Given the description of an element on the screen output the (x, y) to click on. 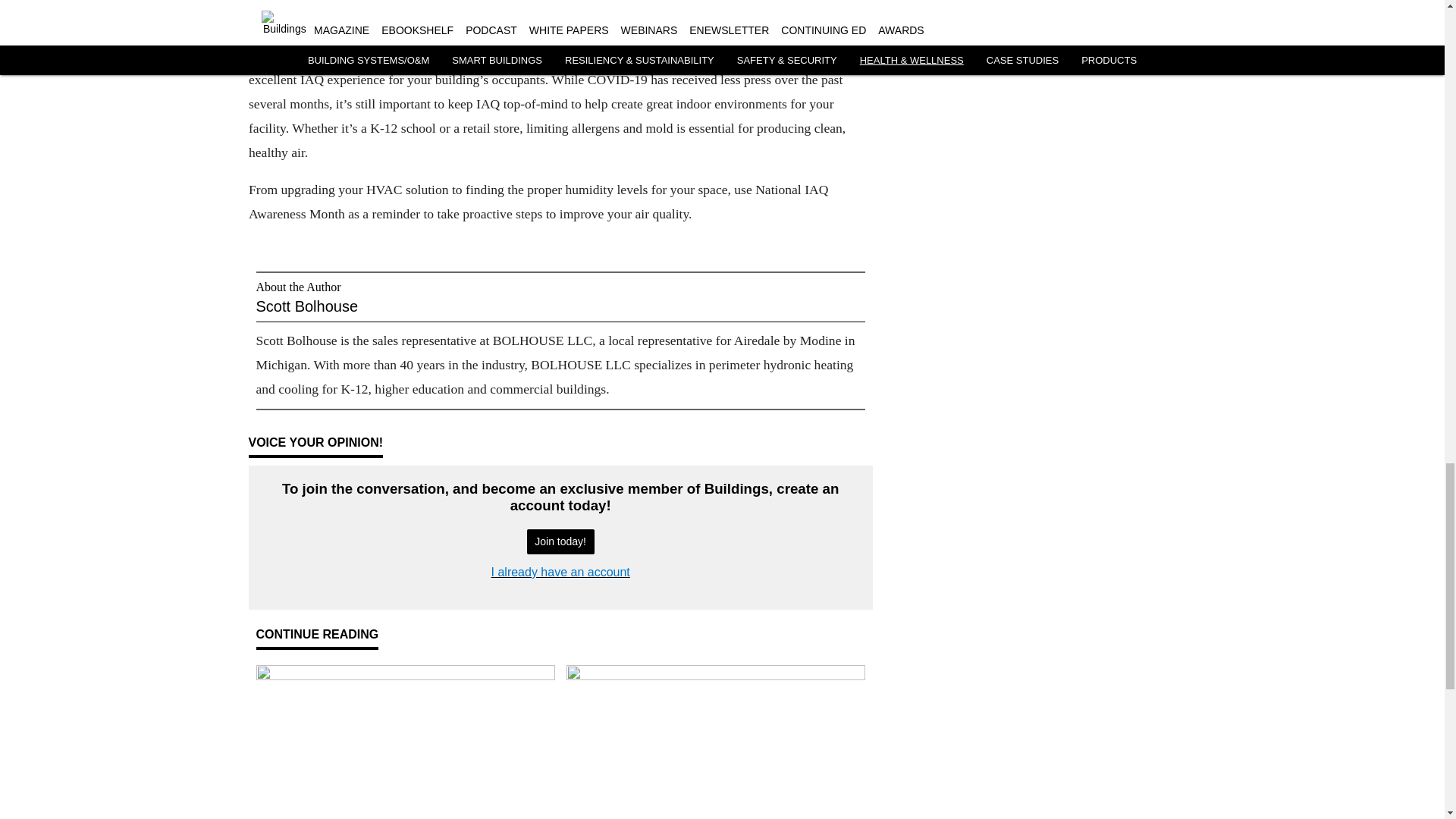
I already have an account (561, 571)
Join today! (560, 541)
